Given the description of an element on the screen output the (x, y) to click on. 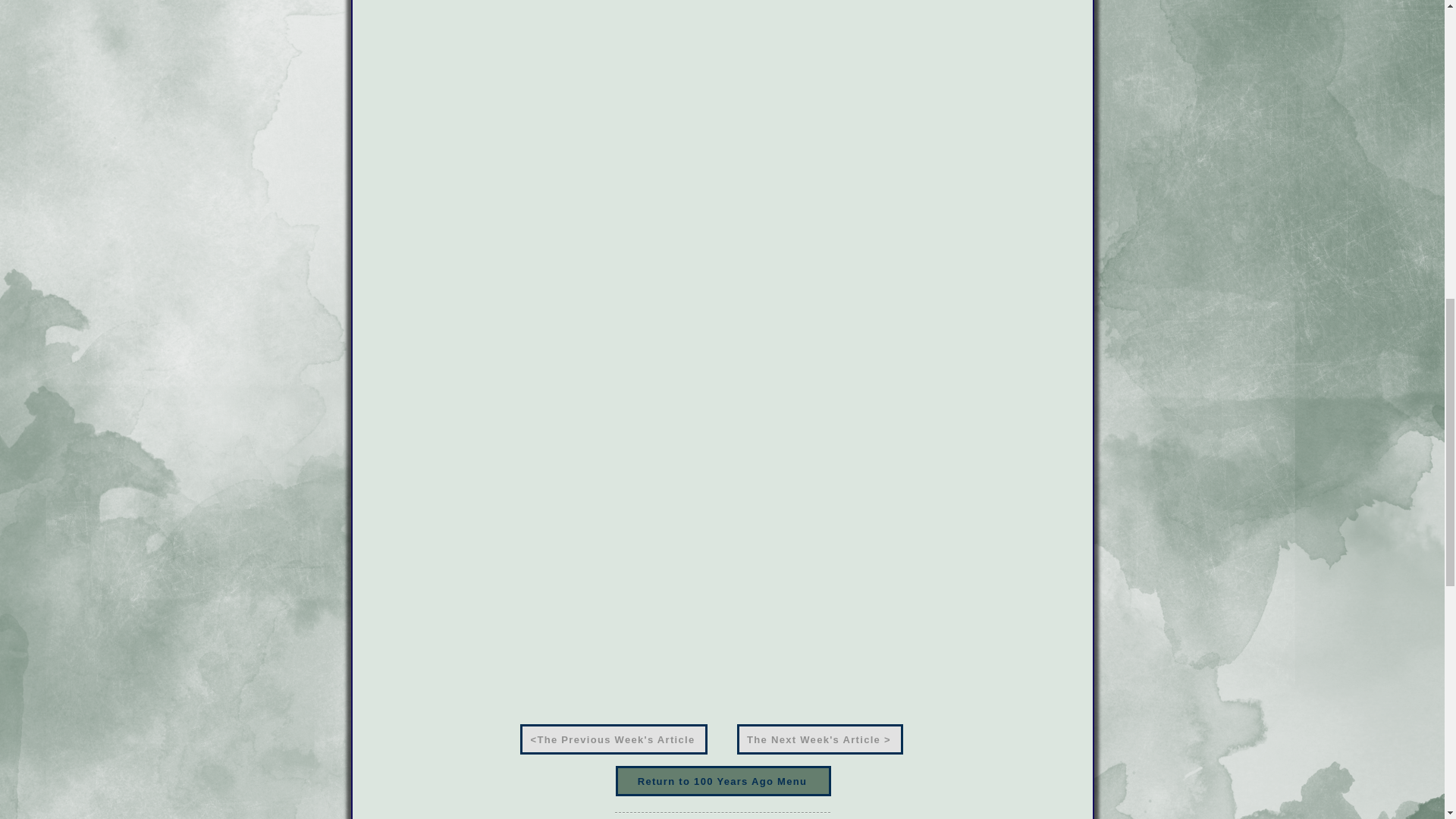
Return to 100 Years Ago Menu (723, 780)
